Given the description of an element on the screen output the (x, y) to click on. 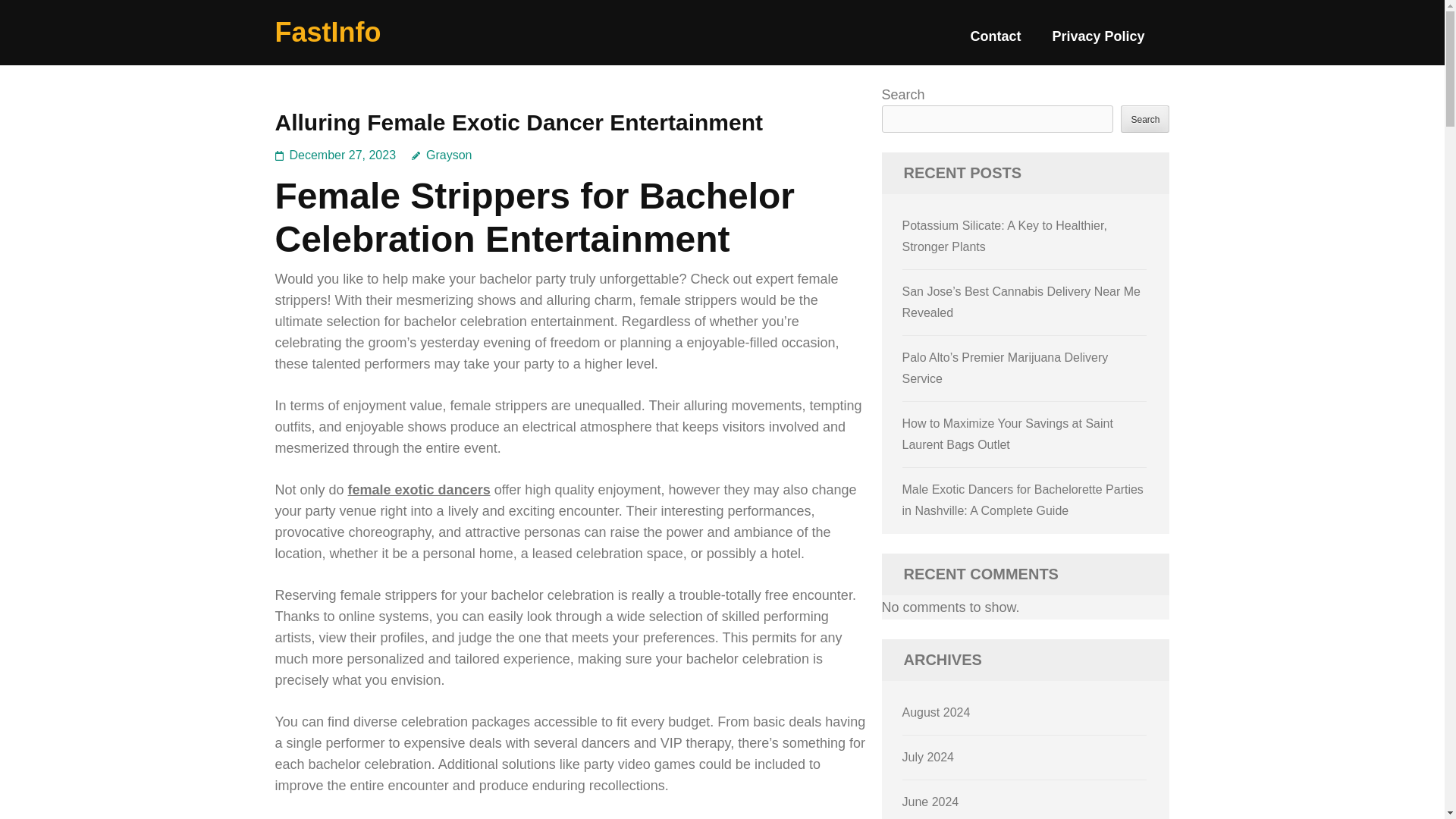
August 2024 (936, 712)
How to Maximize Your Savings at Saint Laurent Bags Outlet (1007, 433)
Potassium Silicate: A Key to Healthier, Stronger Plants (1004, 236)
female exotic dancers (418, 489)
December 27, 2023 (342, 154)
Search (1145, 118)
Contact (994, 42)
June 2024 (930, 801)
Grayson (441, 154)
